Given the description of an element on the screen output the (x, y) to click on. 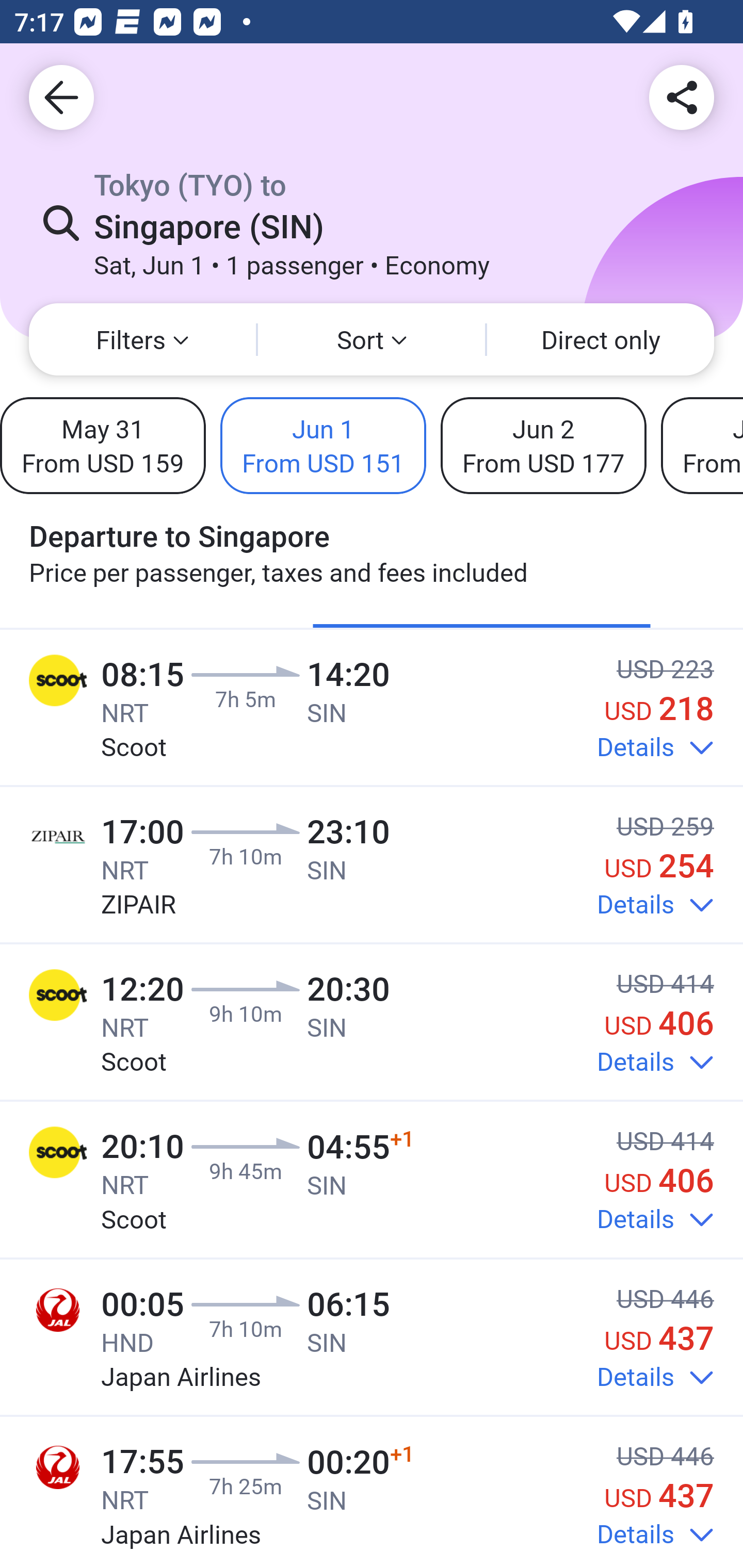
Filters (141, 339)
Sort (371, 339)
Direct only (600, 339)
May 31 From USD 159 (102, 444)
Jun 1 From USD 151 (323, 444)
Jun 2 From USD 177 (543, 444)
Jun 3 From USD 129 (702, 444)
